Given the description of an element on the screen output the (x, y) to click on. 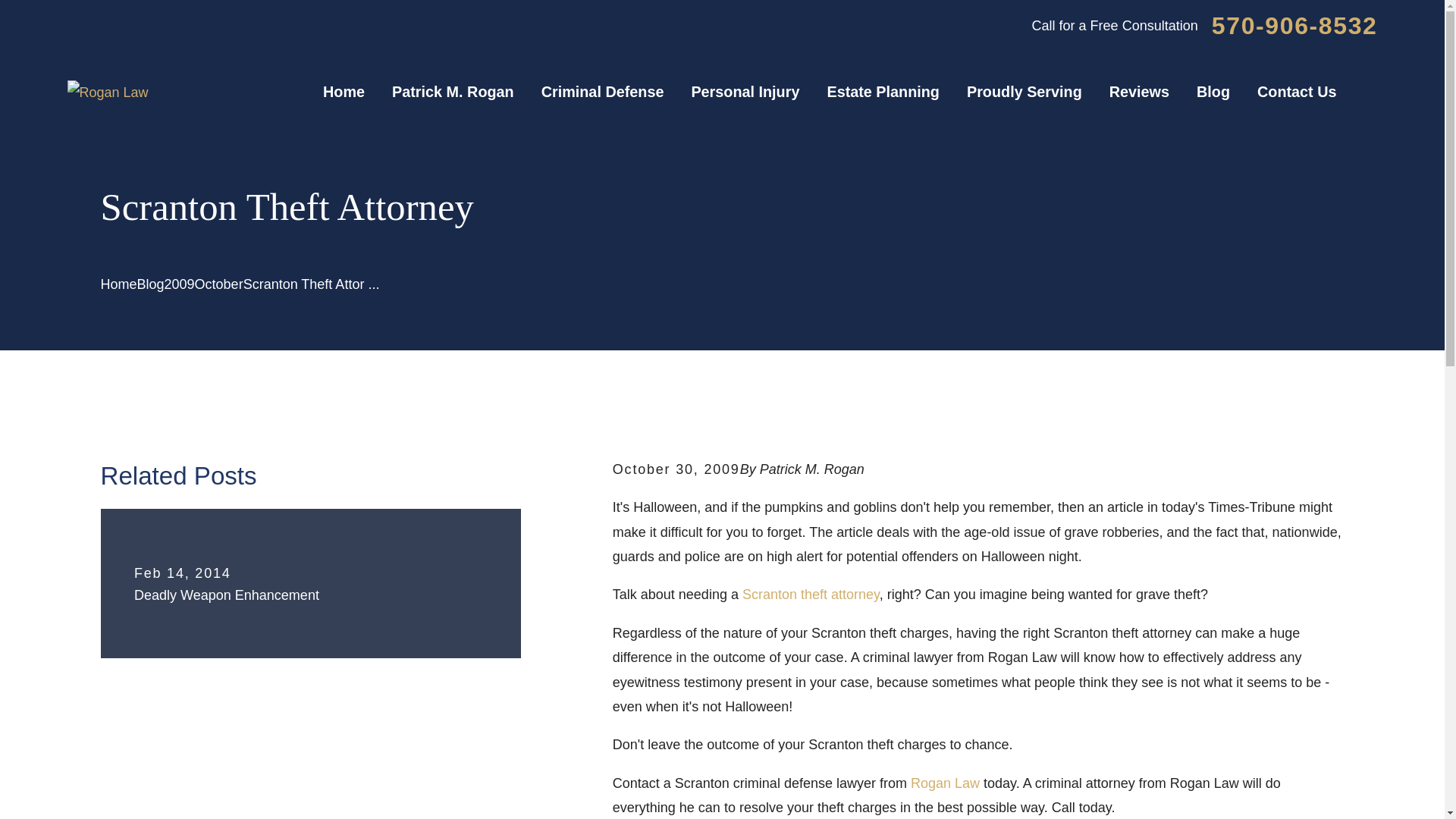
Patrick M. Rogan (452, 92)
Go Home (118, 283)
Criminal Defense (602, 92)
570-906-8532 (1294, 25)
Home (107, 92)
